Given the description of an element on the screen output the (x, y) to click on. 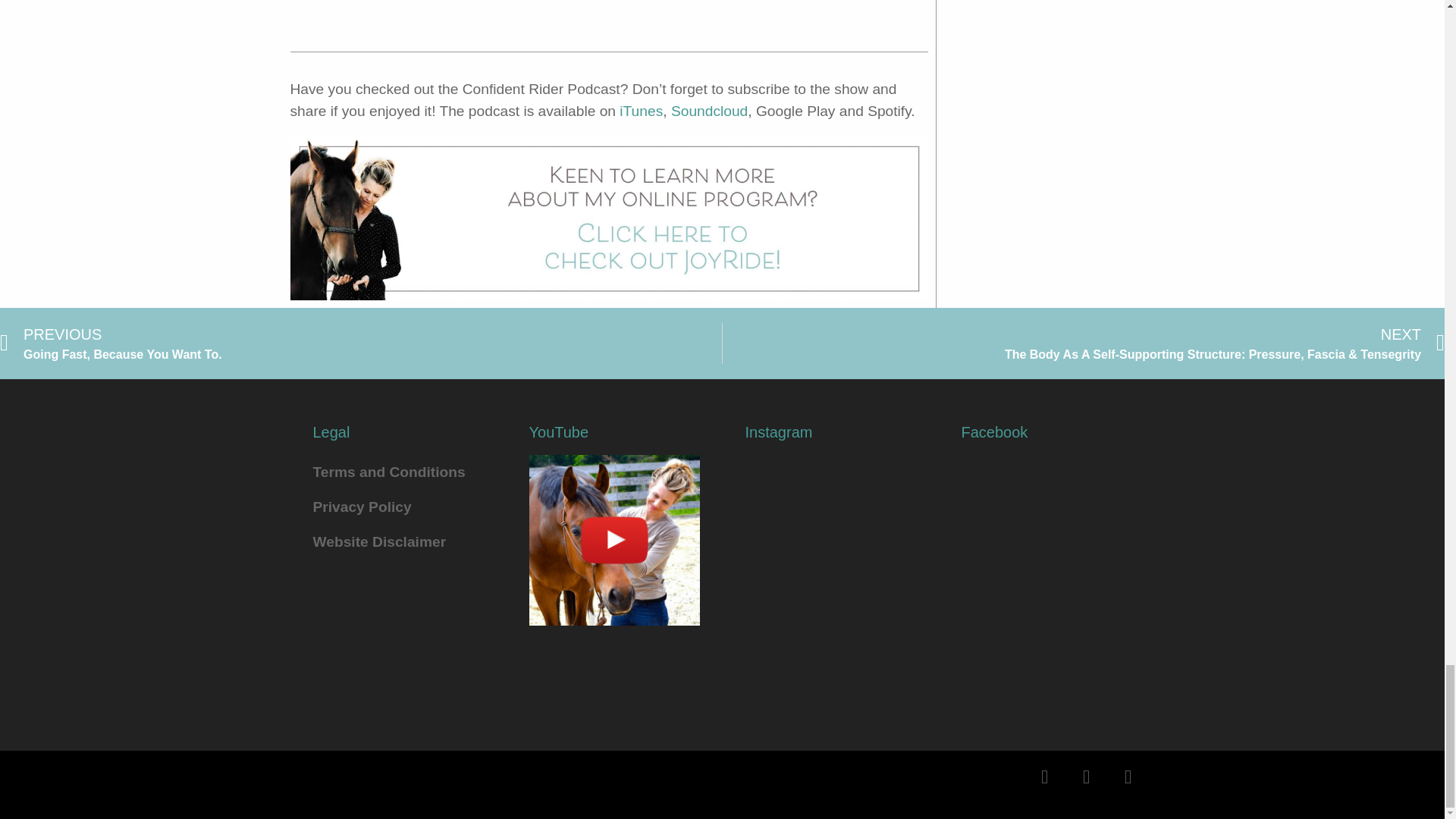
Soundcloud (709, 110)
Terms and Conditions (398, 472)
Website Disclaimer (398, 541)
iTunes (641, 110)
Privacy Policy (361, 342)
